Given the description of an element on the screen output the (x, y) to click on. 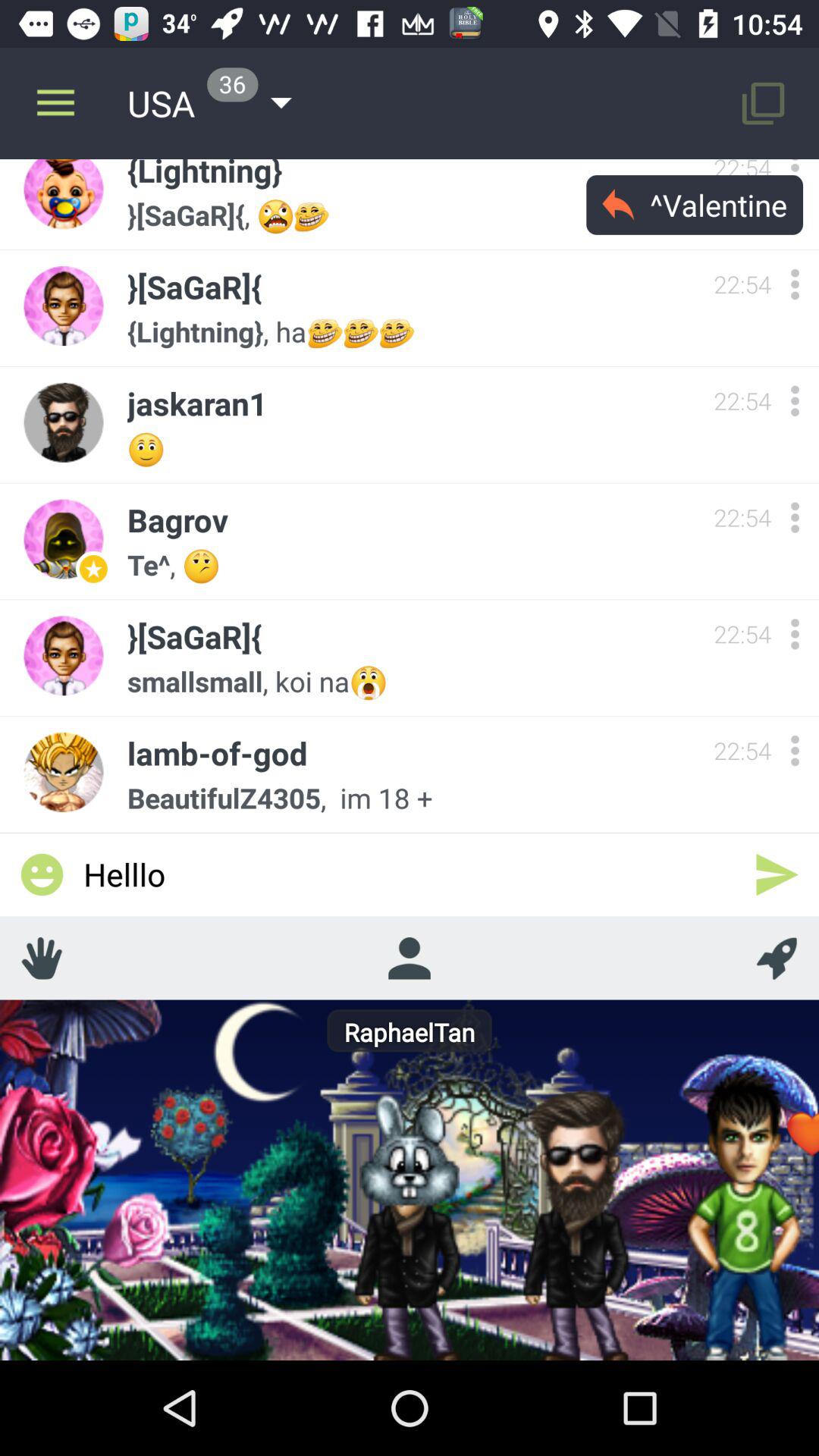
open extended options (795, 284)
